Given the description of an element on the screen output the (x, y) to click on. 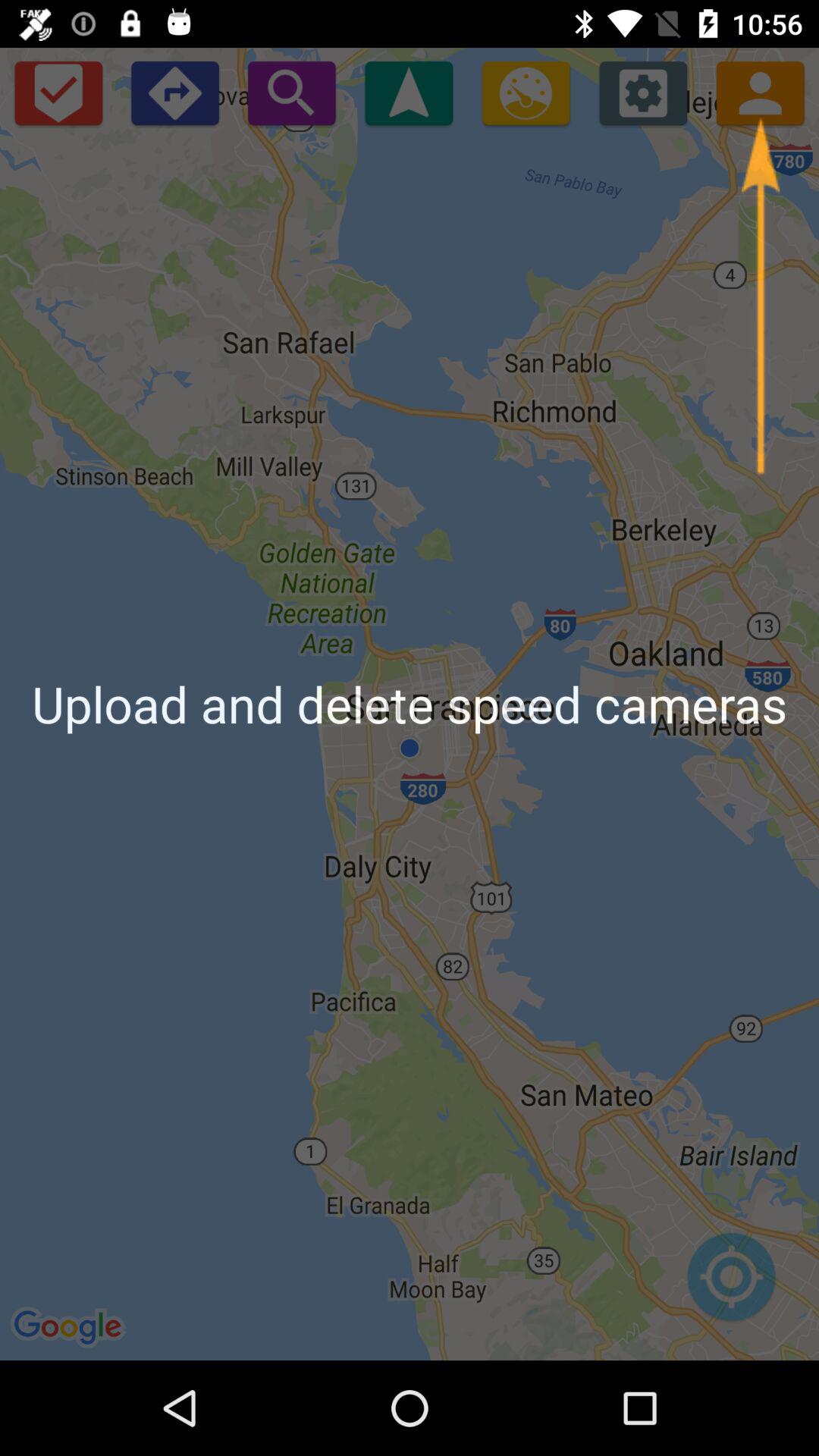
search (291, 92)
